Given the description of an element on the screen output the (x, y) to click on. 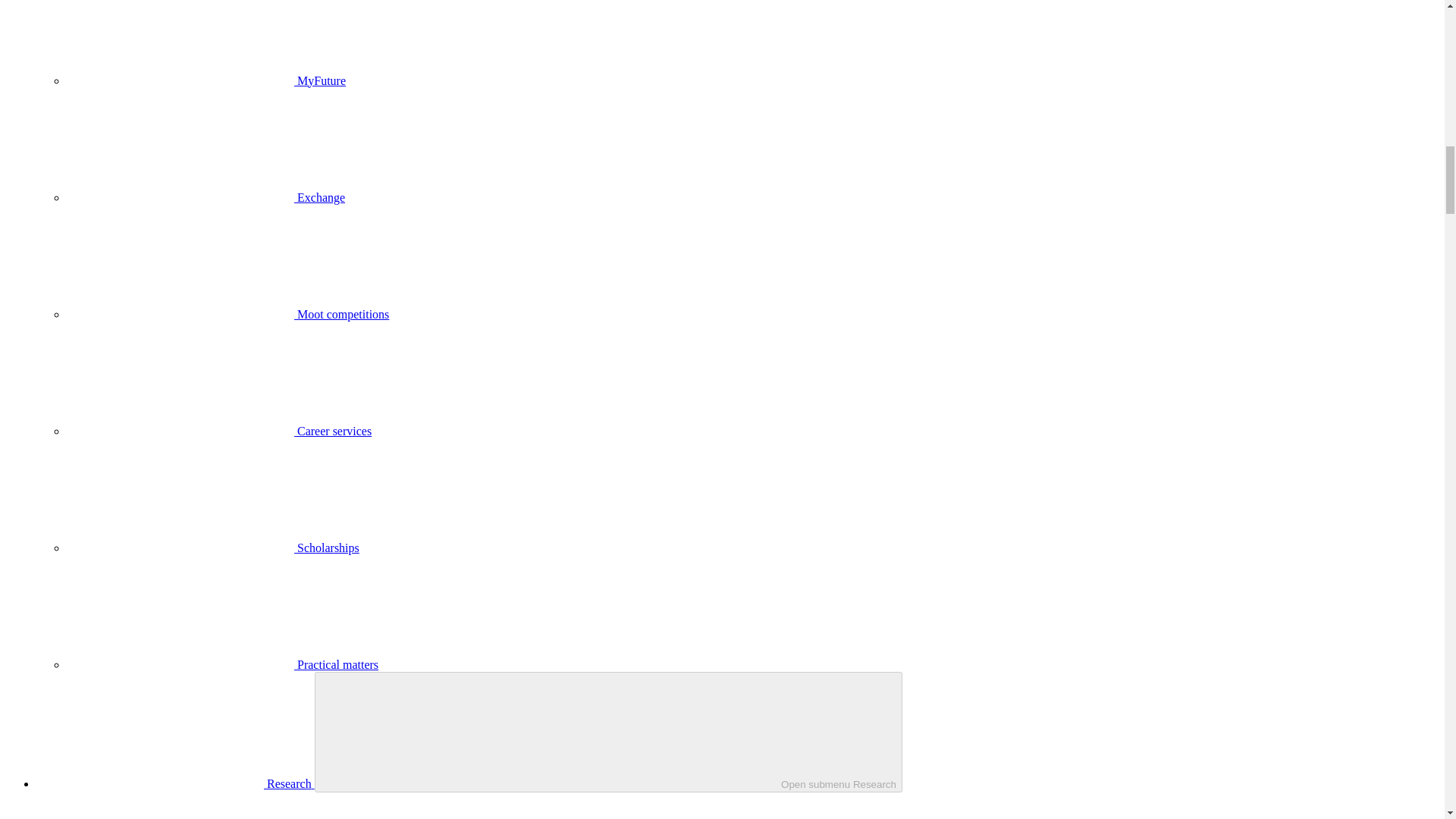
Open submenu Research (608, 731)
Practical matters (222, 664)
MyFuture (206, 80)
Exchange (205, 196)
Research (175, 783)
Scholarships (212, 547)
Moot competitions (227, 314)
Career services (218, 431)
